Given the description of an element on the screen output the (x, y) to click on. 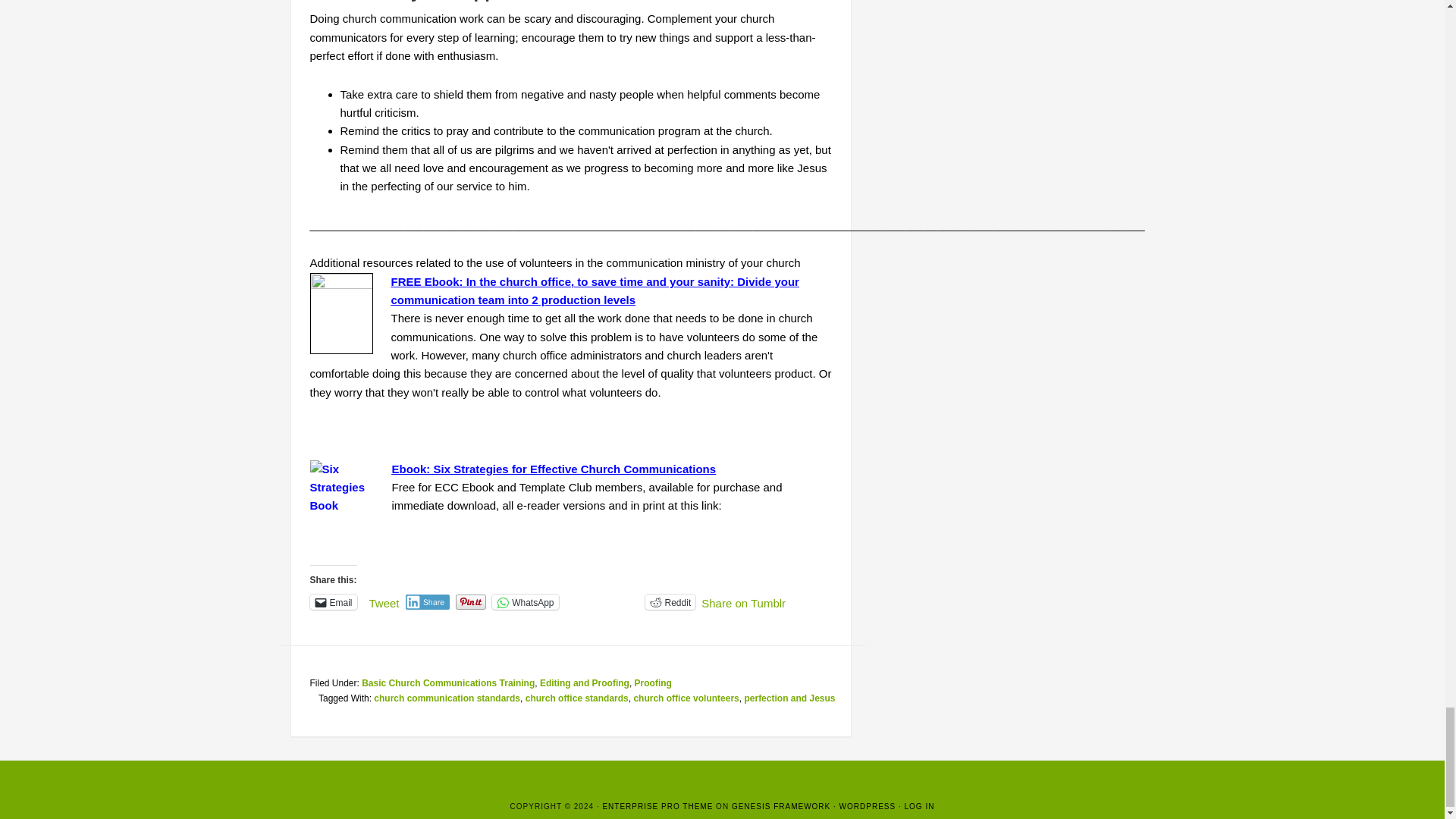
Click to share on Reddit (670, 601)
Click to email a link to a friend (332, 601)
Share on Tumblr (743, 601)
Click to share on WhatsApp (524, 601)
